Given the description of an element on the screen output the (x, y) to click on. 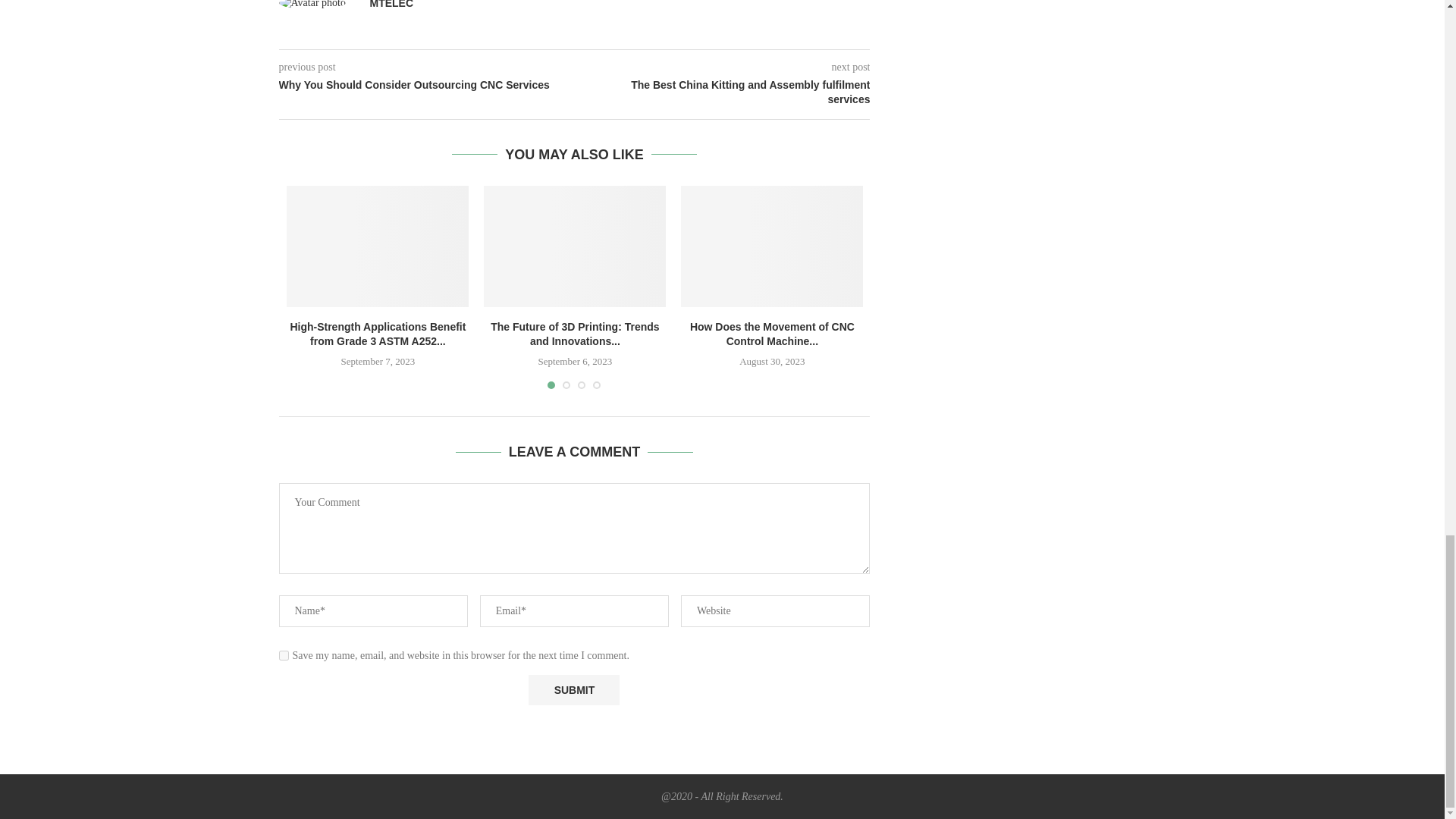
How Does the Movement of CNC Control Machine Tools Work (772, 246)
The Future of 3D Printing: Trends and Innovations in the USA (574, 246)
yes (283, 655)
Submit (574, 689)
Author mtelec (391, 4)
